Given the description of an element on the screen output the (x, y) to click on. 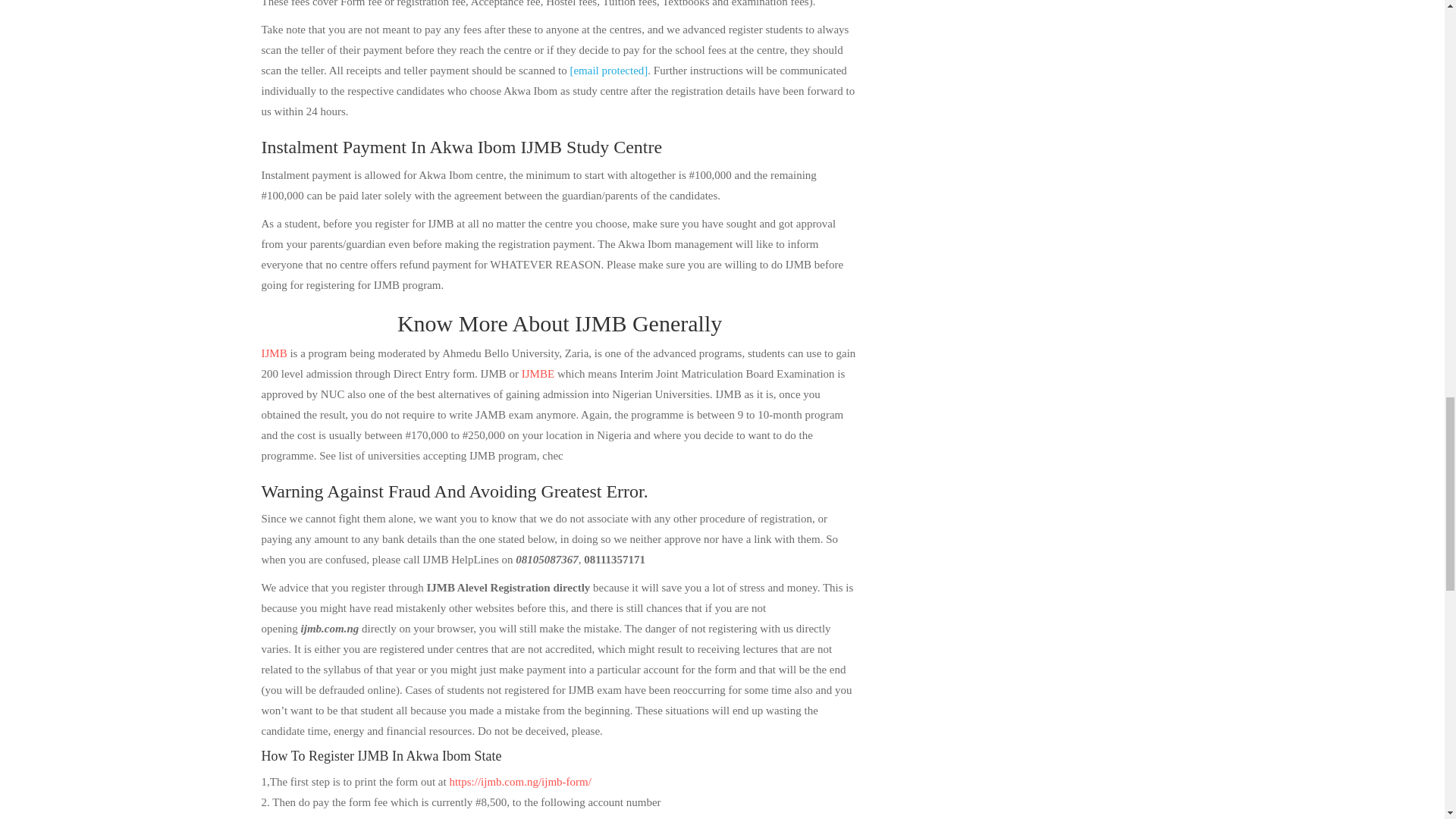
IJMB (273, 353)
